Given the description of an element on the screen output the (x, y) to click on. 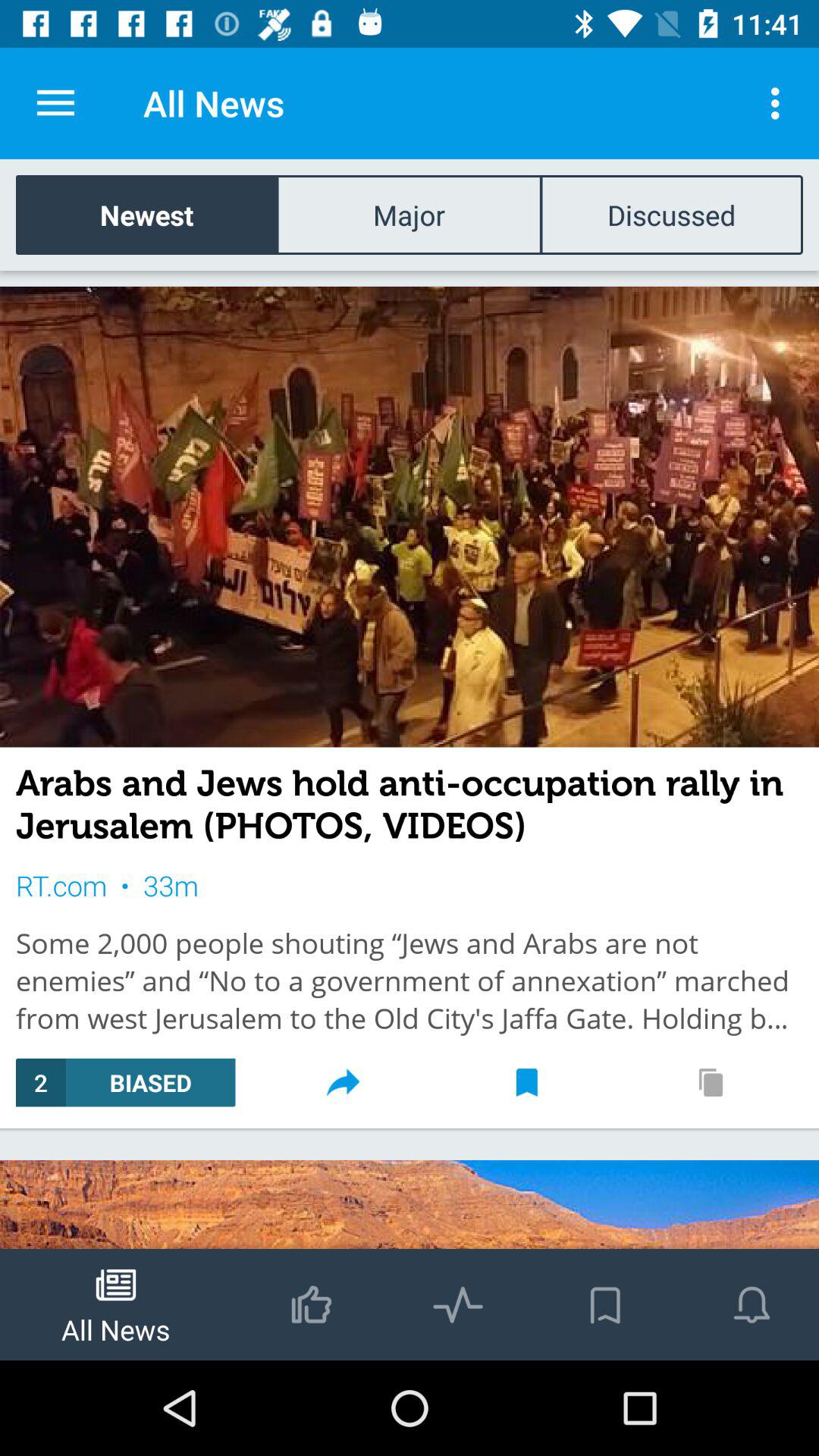
swipe until newest icon (146, 214)
